Given the description of an element on the screen output the (x, y) to click on. 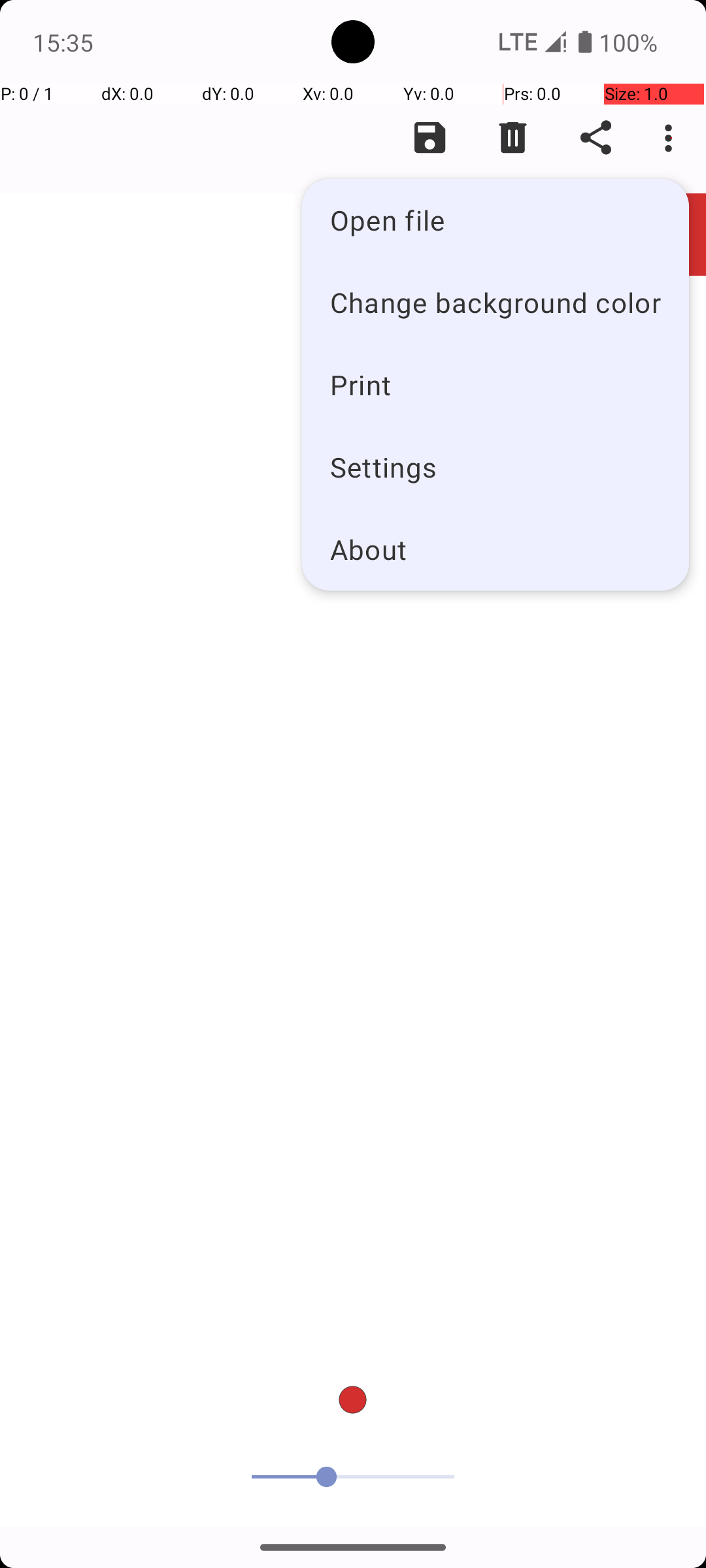
Open file Element type: android.widget.TextView (495, 219)
Change background color Element type: android.widget.TextView (495, 301)
Print Element type: android.widget.TextView (495, 384)
